Given the description of an element on the screen output the (x, y) to click on. 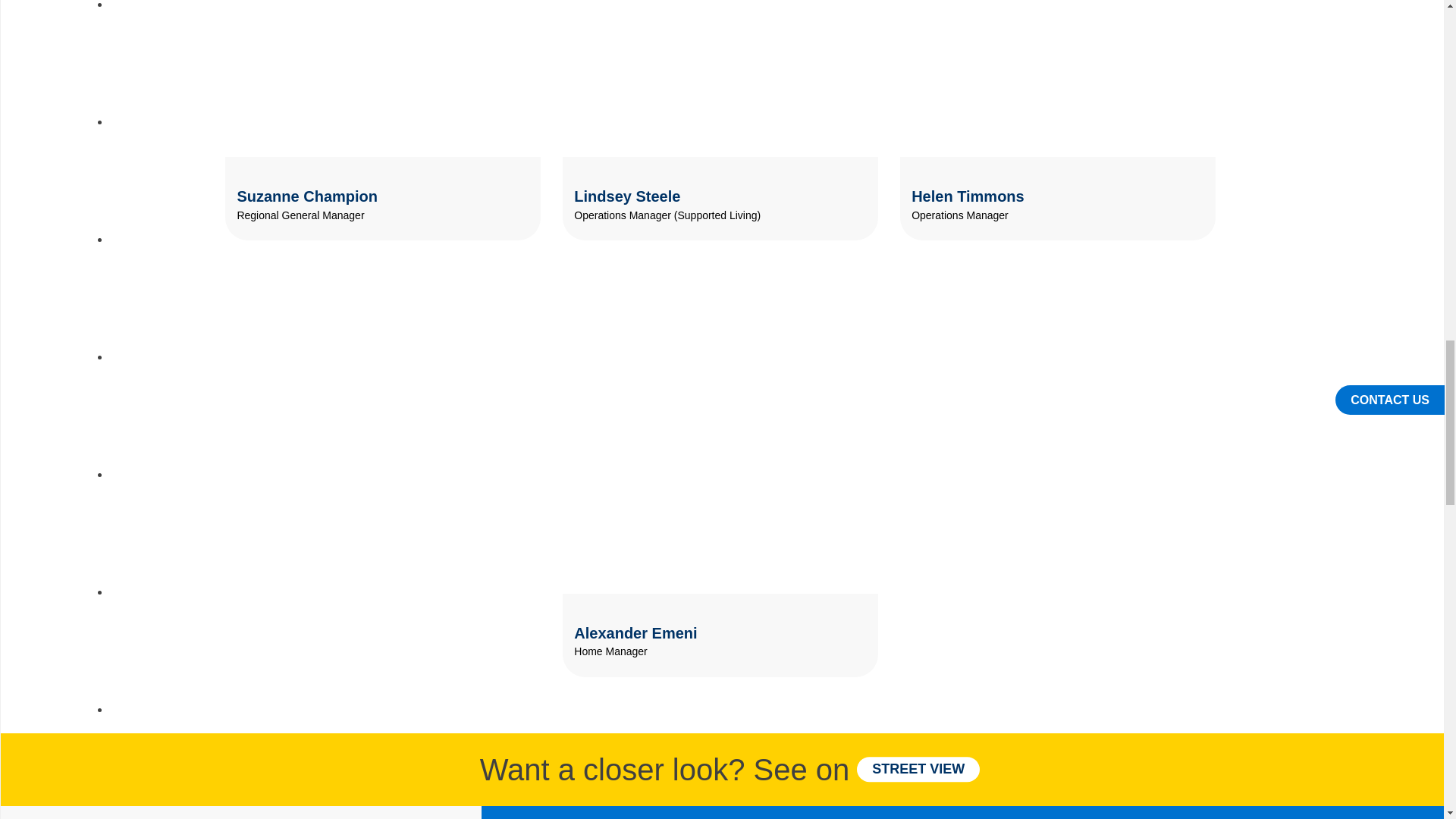
Learn More (1200, 173)
Learn More (863, 610)
Learn More (863, 173)
Learn More (525, 173)
